Given the description of an element on the screen output the (x, y) to click on. 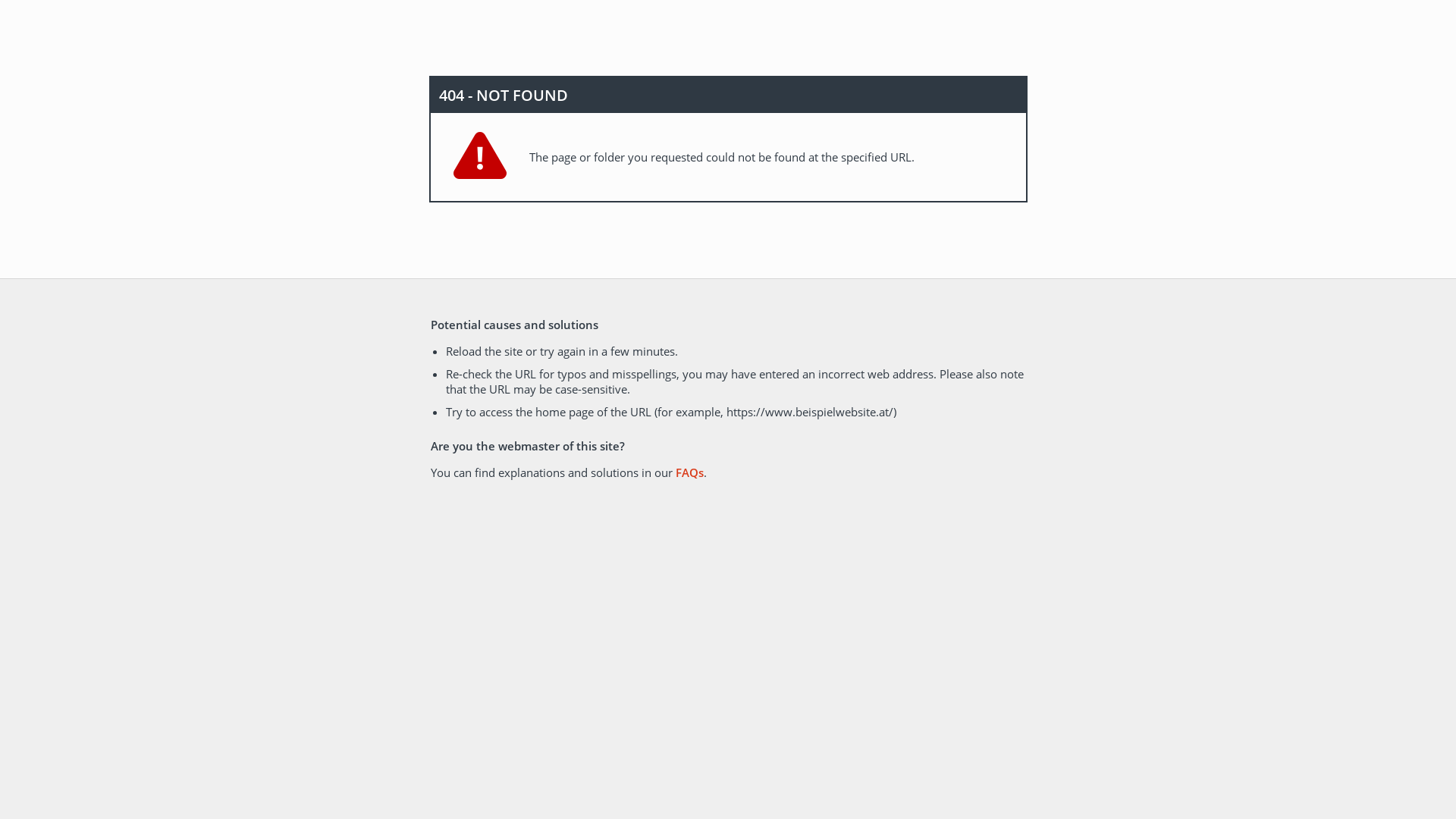
FAQs Element type: text (688, 472)
